Given the description of an element on the screen output the (x, y) to click on. 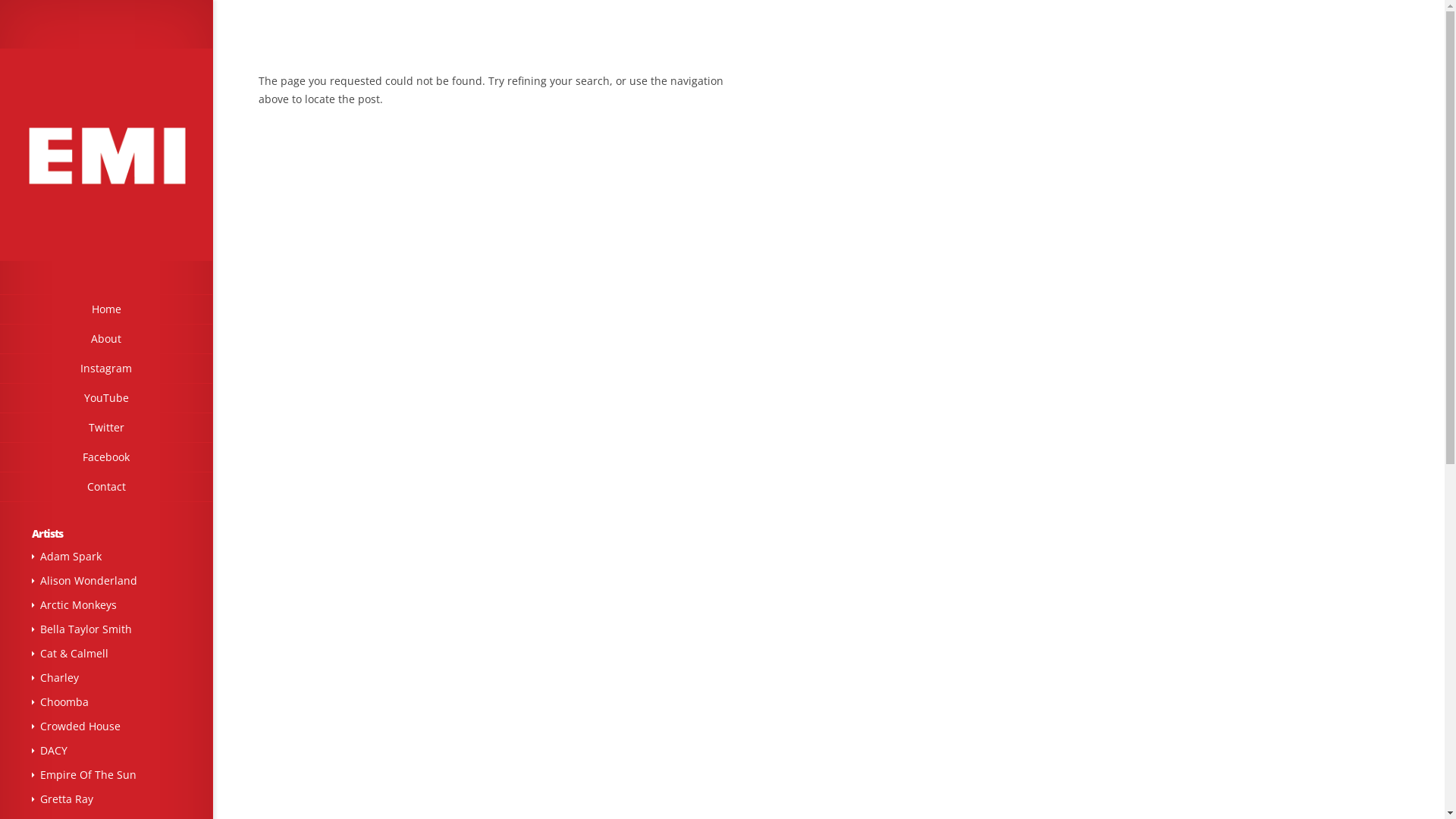
Adam Spark Element type: text (70, 556)
Crowded House Element type: text (80, 725)
Charley Element type: text (59, 677)
Home Element type: text (106, 309)
Alison Wonderland Element type: text (88, 580)
Instagram Element type: text (106, 368)
YouTube Element type: text (106, 398)
Choomba Element type: text (64, 701)
Cat & Calmell Element type: text (74, 653)
Arctic Monkeys Element type: text (78, 604)
Gretta Ray Element type: text (66, 798)
DACY Element type: text (53, 750)
About Element type: text (106, 339)
Empire Of The Sun Element type: text (88, 774)
Twitter Element type: text (106, 427)
Bella Taylor Smith Element type: text (85, 628)
Facebook Element type: text (106, 457)
Contact Element type: text (106, 487)
